Given the description of an element on the screen output the (x, y) to click on. 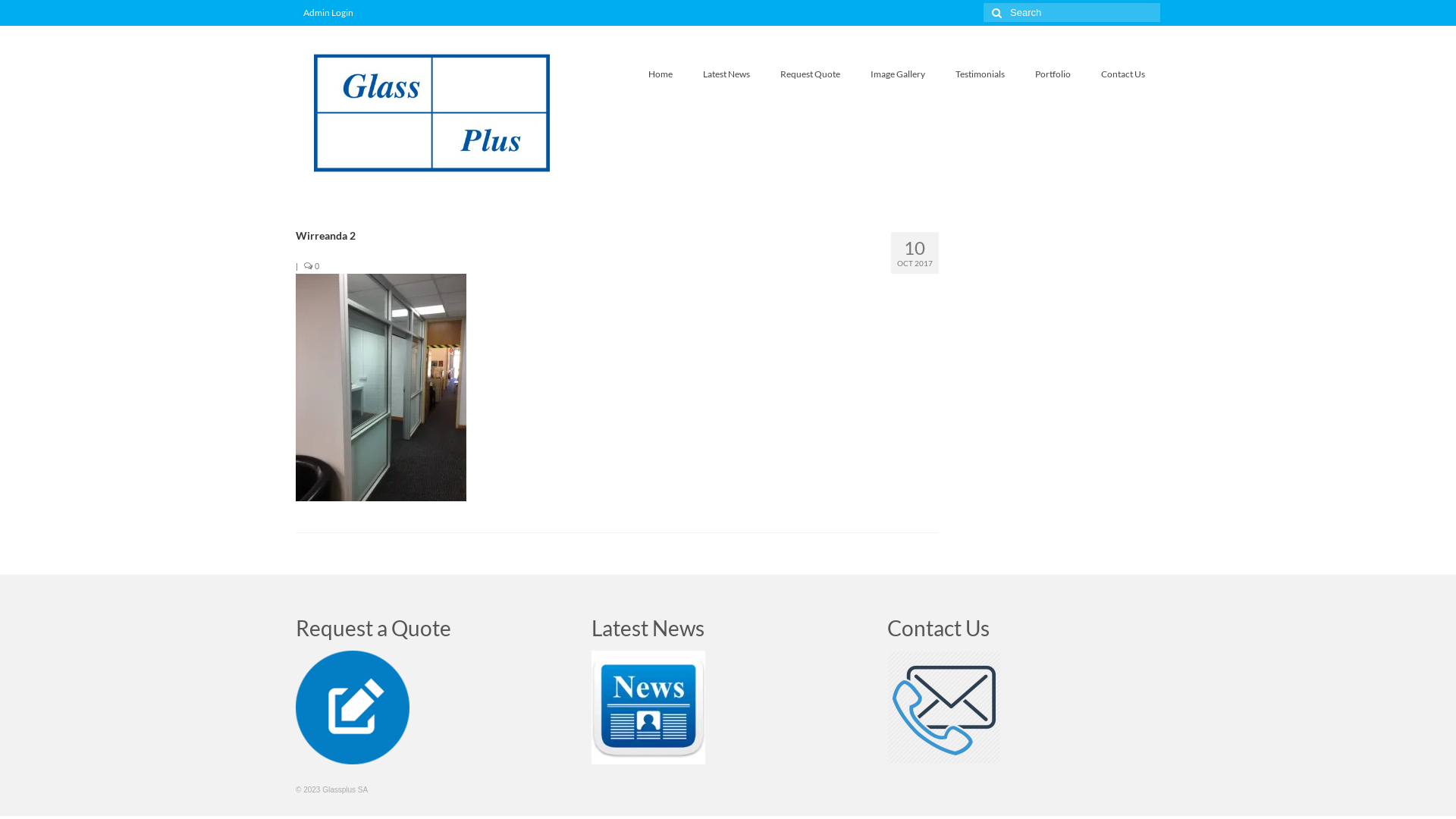
Contact Us Element type: hover (944, 705)
Latest News Element type: hover (648, 705)
Image Gallery Element type: text (897, 73)
Request Quote Element type: text (810, 73)
Home Element type: text (660, 73)
Contact Us Element type: text (1122, 73)
Latest News Element type: text (726, 73)
Testimonials Element type: text (979, 73)
Request a Quote Element type: hover (352, 705)
Admin Login Element type: text (327, 12)
Portfolio Element type: text (1052, 73)
